Given the description of an element on the screen output the (x, y) to click on. 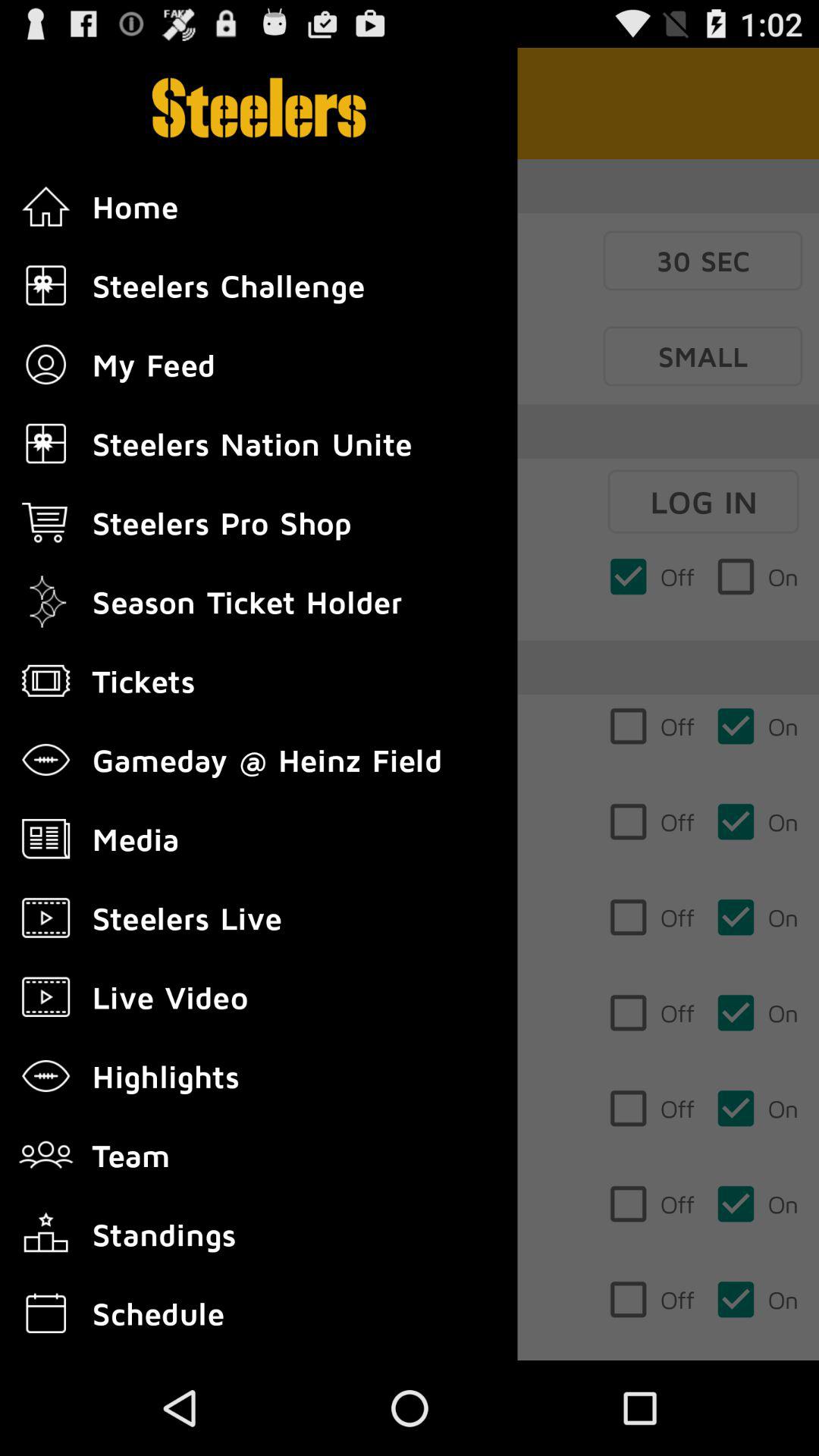
click on third checkbox below log in (650, 821)
click on fifth checkbox of on below log in (756, 1013)
click on third checkbox of on below log in (756, 821)
select the logo of steelers nation unite (45, 444)
select log in (703, 502)
